Given the description of an element on the screen output the (x, y) to click on. 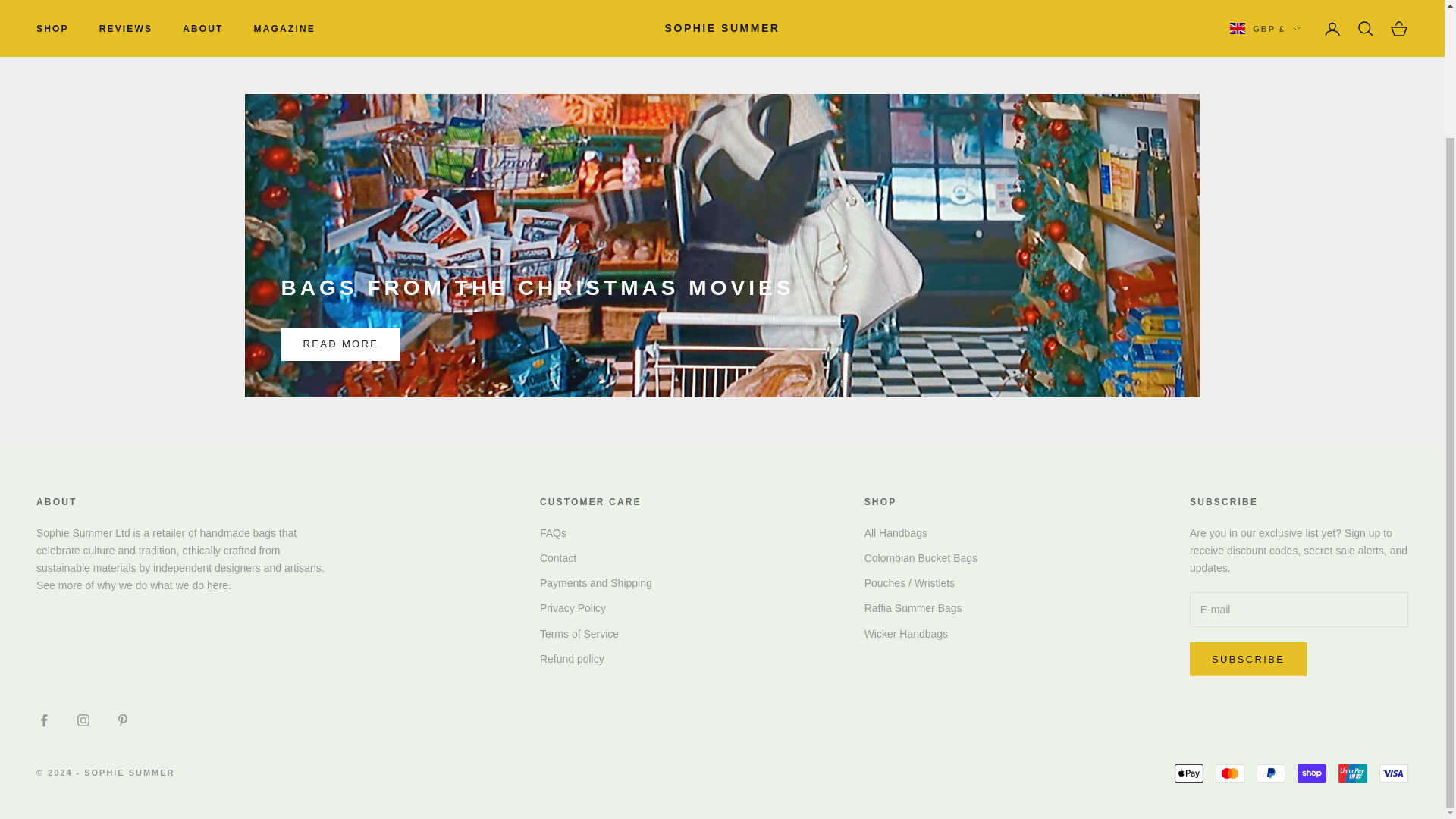
Show articles tagged Style Inspiration (1059, 48)
Show articles tagged Designers (848, 48)
Show articles tagged Christmas films (561, 48)
About Us (217, 585)
Show articles tagged tote bags (1138, 48)
Show articles tagged christmas (485, 48)
Show articles tagged News (990, 48)
Show articles tagged Empowerment (925, 48)
Widen search to articles that aren't tagged clutches (636, 48)
Show articles tagged Conscious Living (714, 48)
Show articles tagged bags from the movies (393, 48)
Show articles tagged Culture (789, 48)
